Given the description of an element on the screen output the (x, y) to click on. 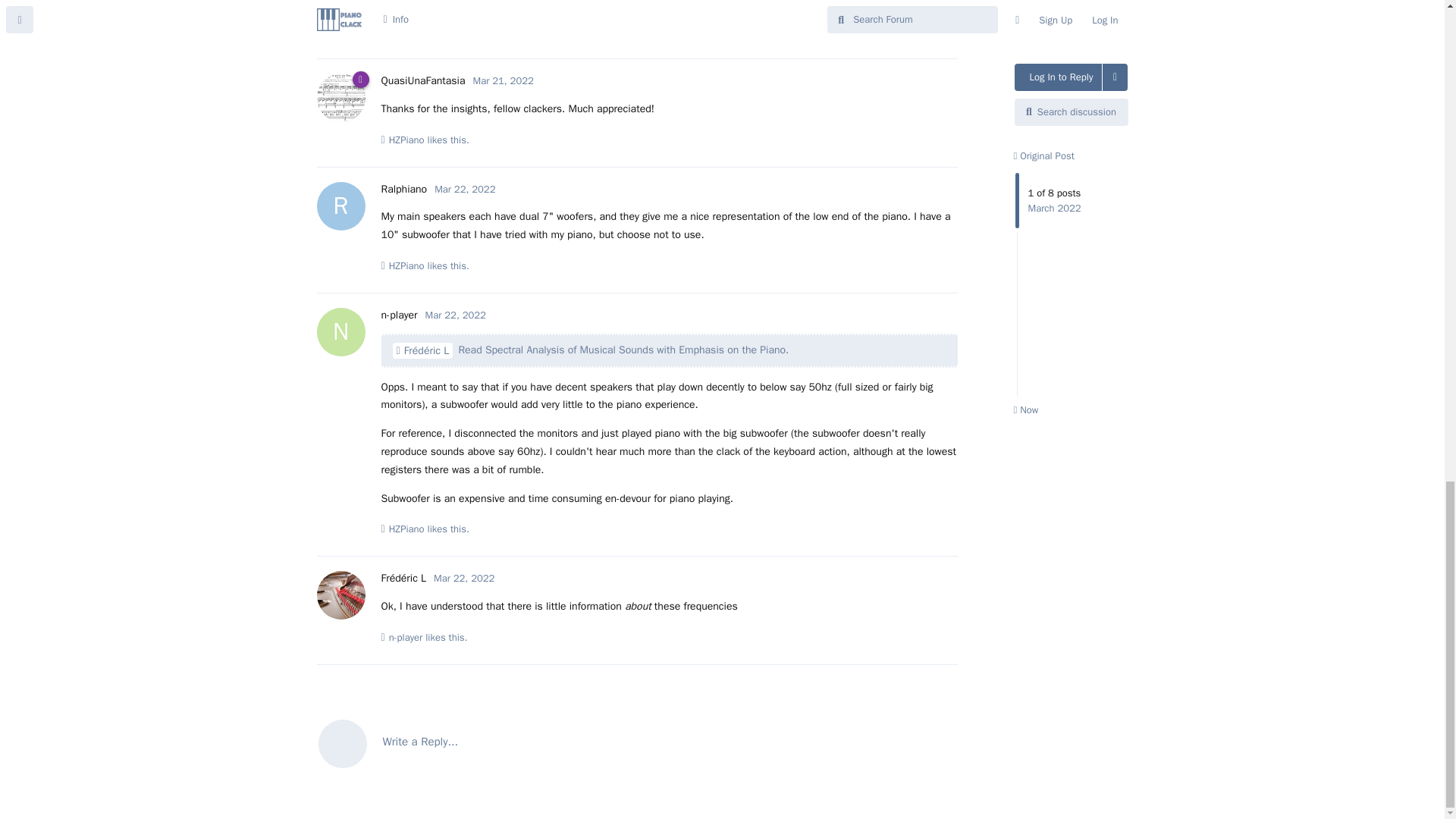
Tuesday, March 22, 2022 1:28 AM (464, 188)
Monday, March 21, 2022 4:09 PM (503, 80)
Tuesday, March 22, 2022 2:17 AM (455, 314)
Tuesday, March 22, 2022 2:49 AM (464, 577)
